Given the description of an element on the screen output the (x, y) to click on. 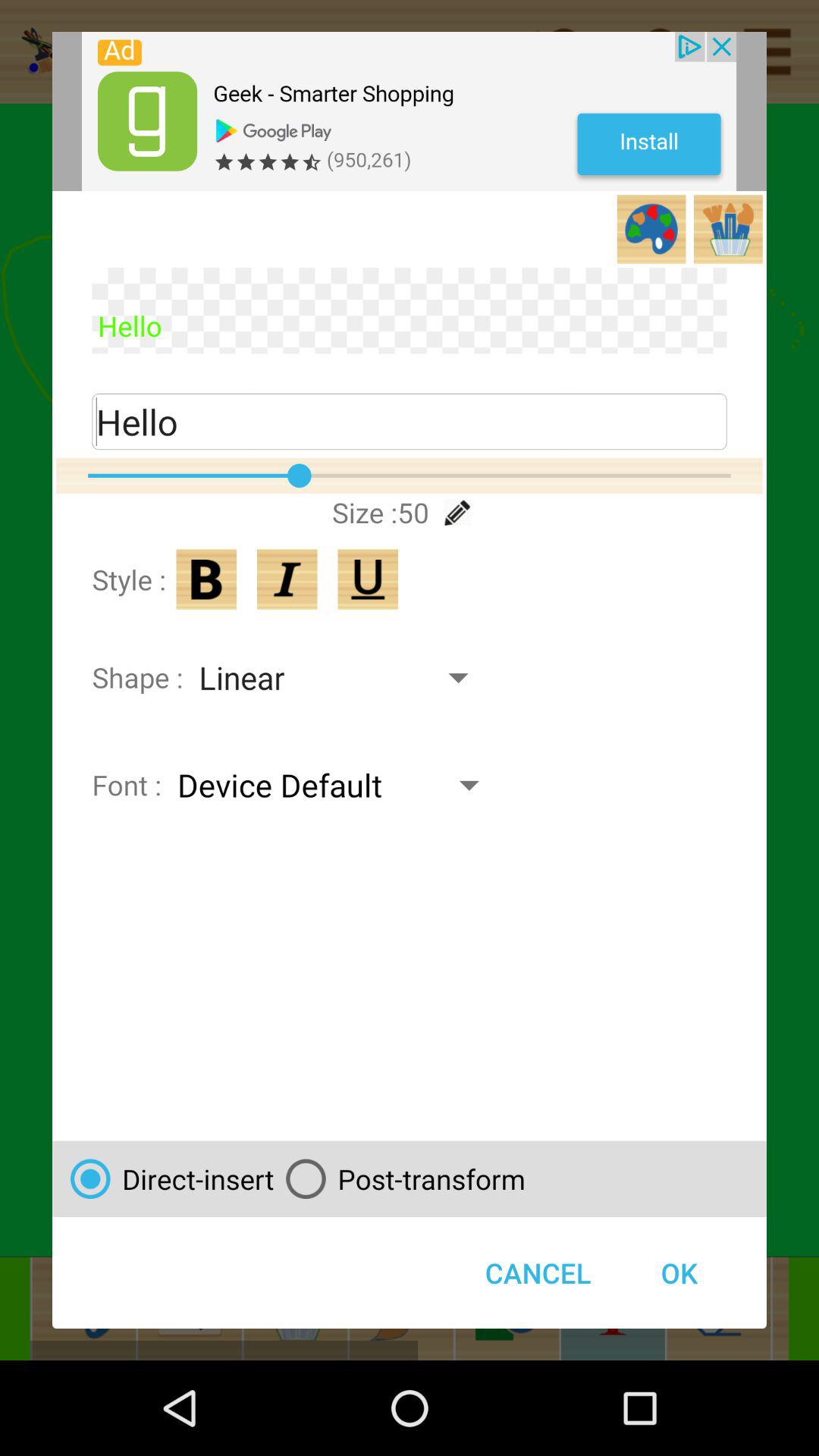
install geek (408, 111)
